Given the description of an element on the screen output the (x, y) to click on. 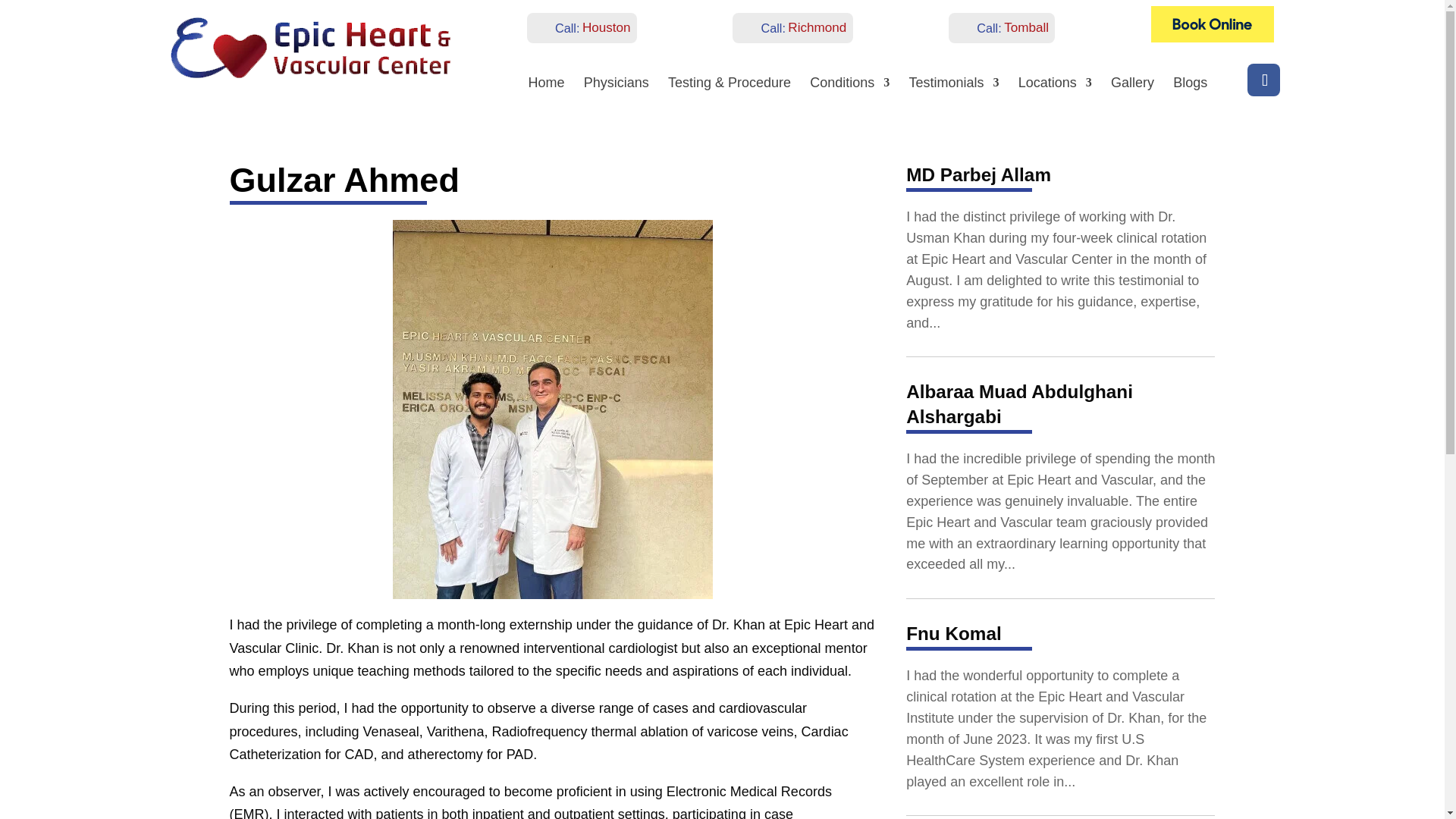
Follow on Facebook (1263, 79)
Richmond (816, 27)
Fnu Komal (953, 633)
Locations (1054, 85)
Albaraa Muad Abdulghani Alshargabi (1018, 403)
Physicians (616, 85)
Gallery (1132, 85)
Conditions (849, 85)
Tomball (1026, 27)
Blogs (1190, 85)
